Given the description of an element on the screen output the (x, y) to click on. 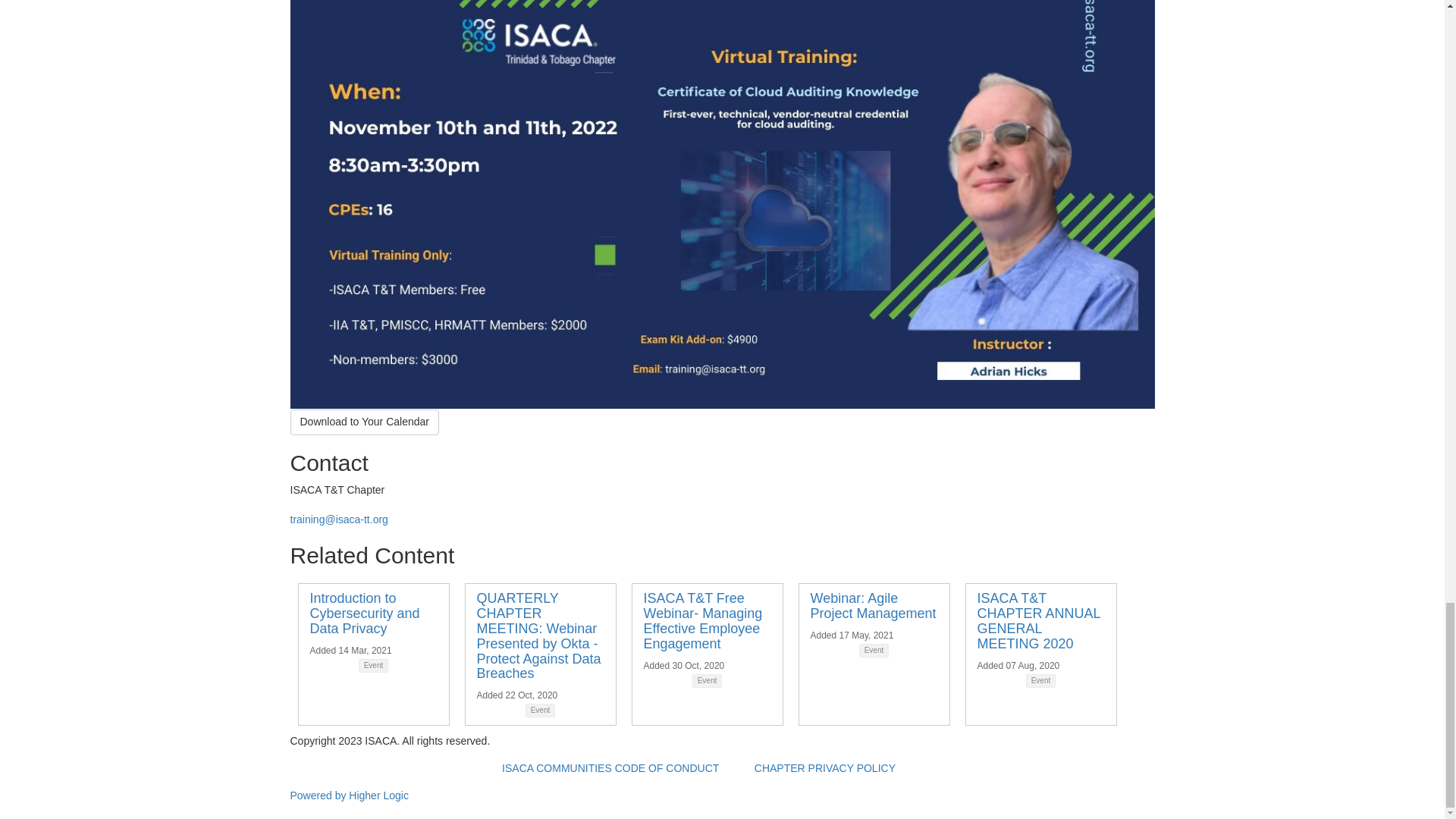
Download to Your Calendar (363, 421)
Webinar: Agile Project Management (872, 605)
Introduction to Cybersecurity and Data Privacy (363, 613)
